Given the description of an element on the screen output the (x, y) to click on. 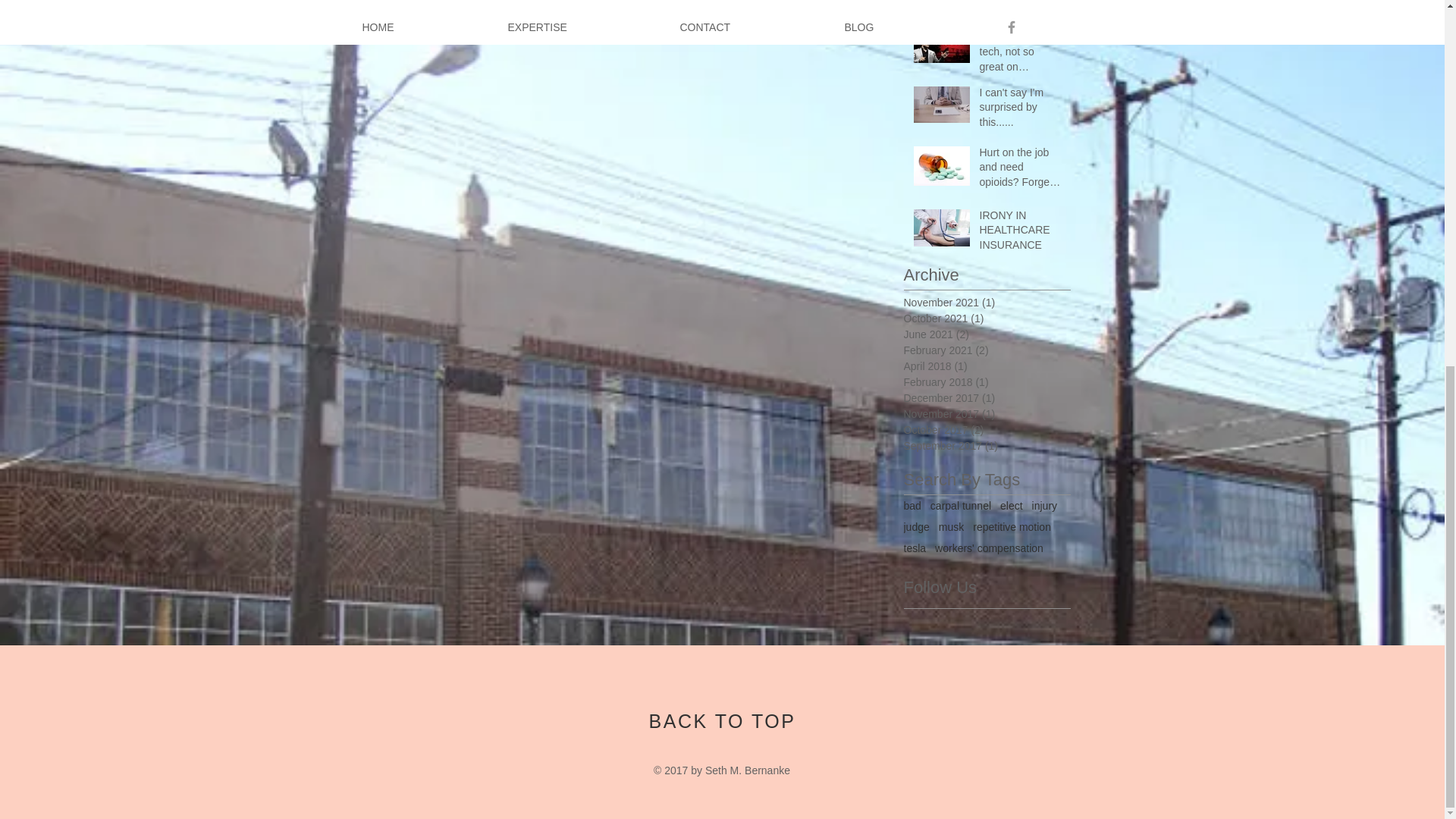
judge (917, 526)
musk (951, 526)
Tesla great on tech, not so great on employee safety (1020, 55)
bad (912, 505)
tesla (915, 548)
Hurt on the job and need opioids? Forget about it. (1020, 170)
I can't say I'm surprised by this...... (1020, 110)
carpal tunnel (960, 505)
repetitive motion (1011, 526)
IRONY IN HEALTHCARE INSURANCE (1020, 233)
workers' compensation (988, 548)
elect (1011, 505)
injury (1044, 505)
